Given the description of an element on the screen output the (x, y) to click on. 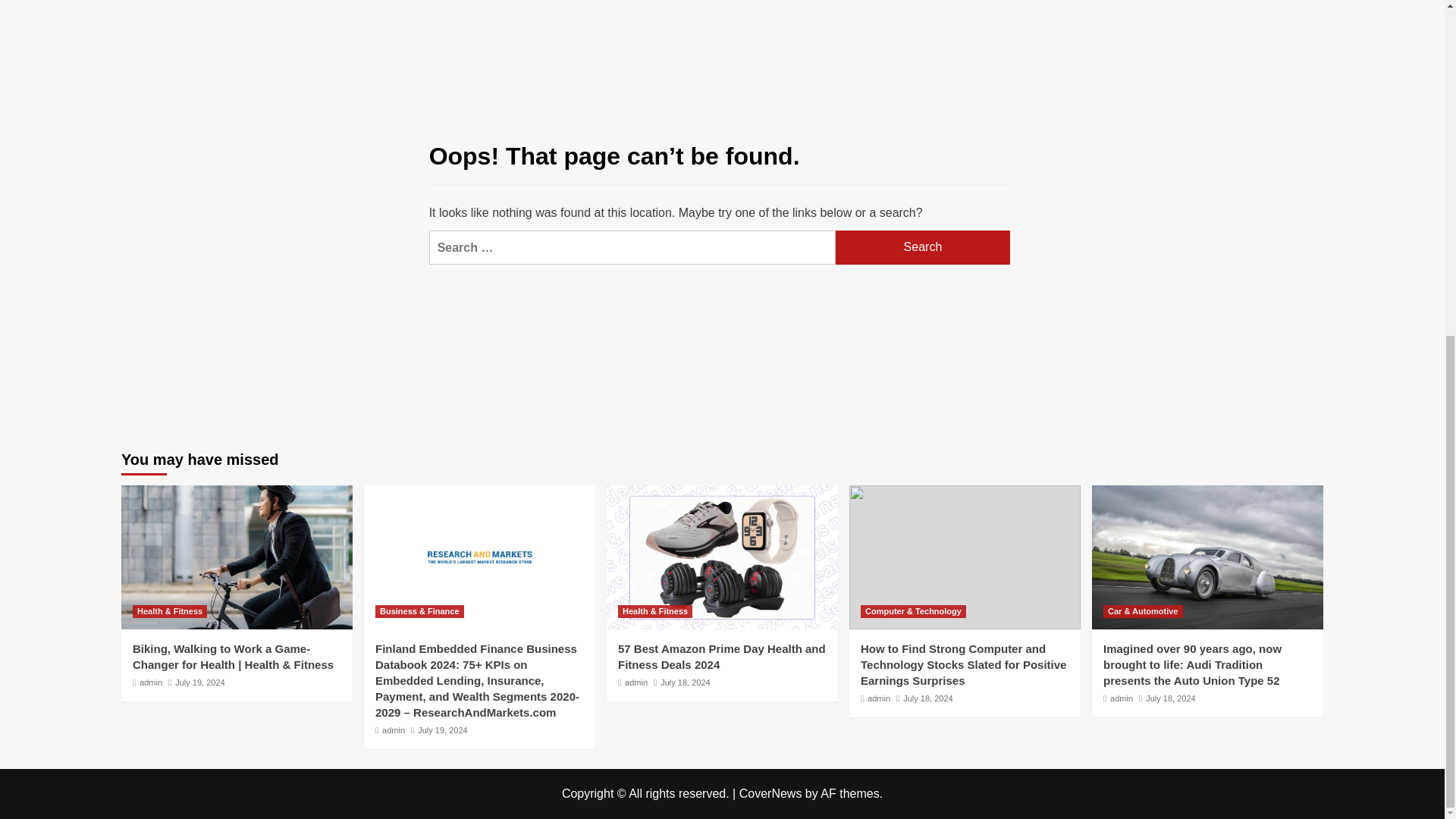
admin (1120, 697)
July 19, 2024 (199, 682)
57 Best Amazon Prime Day Health and Fitness Deals 2024 (721, 656)
Search (922, 247)
July 18, 2024 (685, 682)
admin (392, 729)
CoverNews (770, 793)
July 18, 2024 (927, 697)
July 18, 2024 (1170, 697)
admin (878, 697)
admin (635, 682)
admin (150, 682)
Search (922, 247)
